Given the description of an element on the screen output the (x, y) to click on. 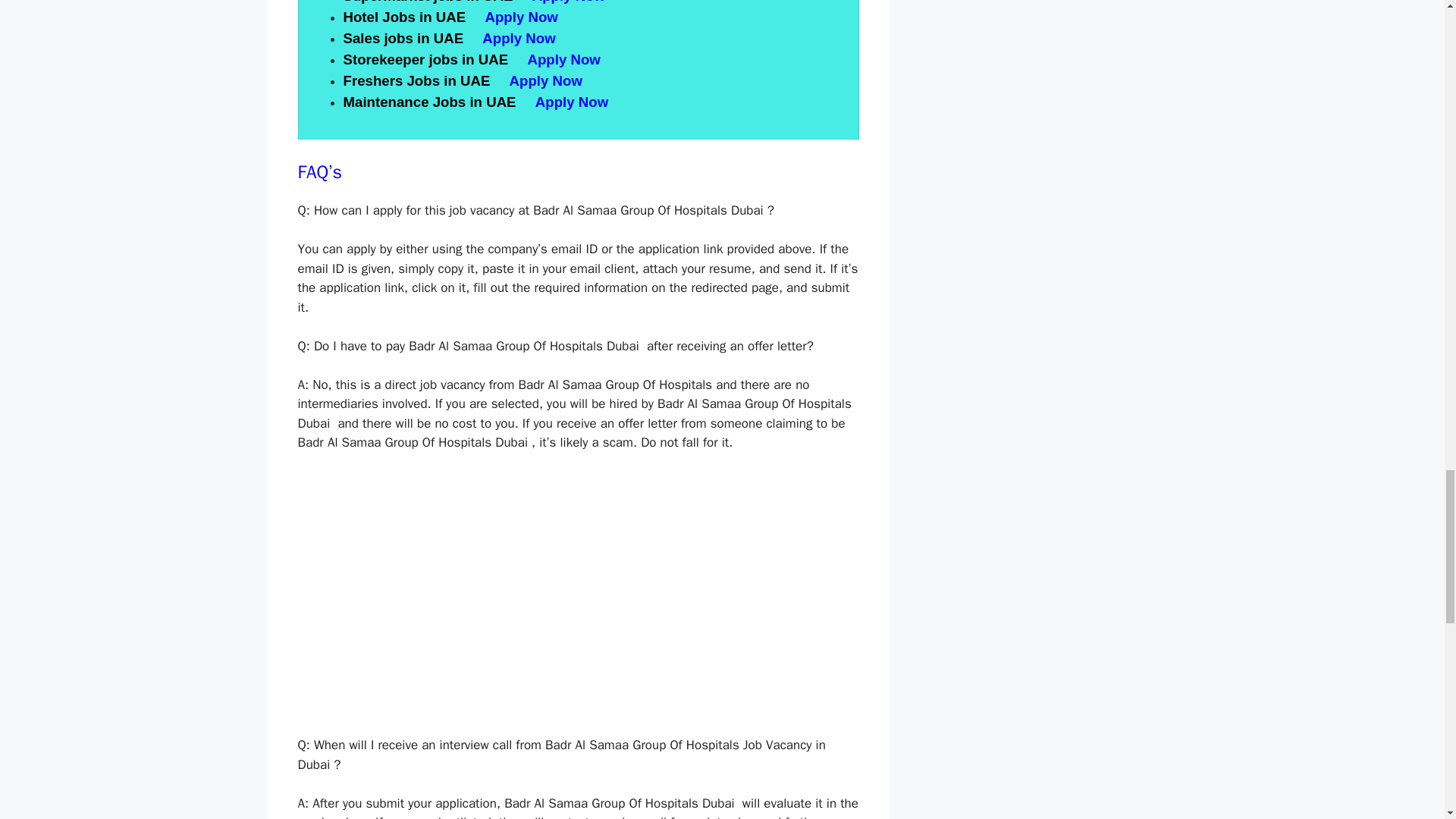
Apply Now  (573, 101)
Apply Now (571, 2)
Apply Now (520, 17)
YouTube video player (509, 590)
Apply Now  (520, 37)
Apply Now  (547, 80)
Apply Now  (565, 59)
